Given the description of an element on the screen output the (x, y) to click on. 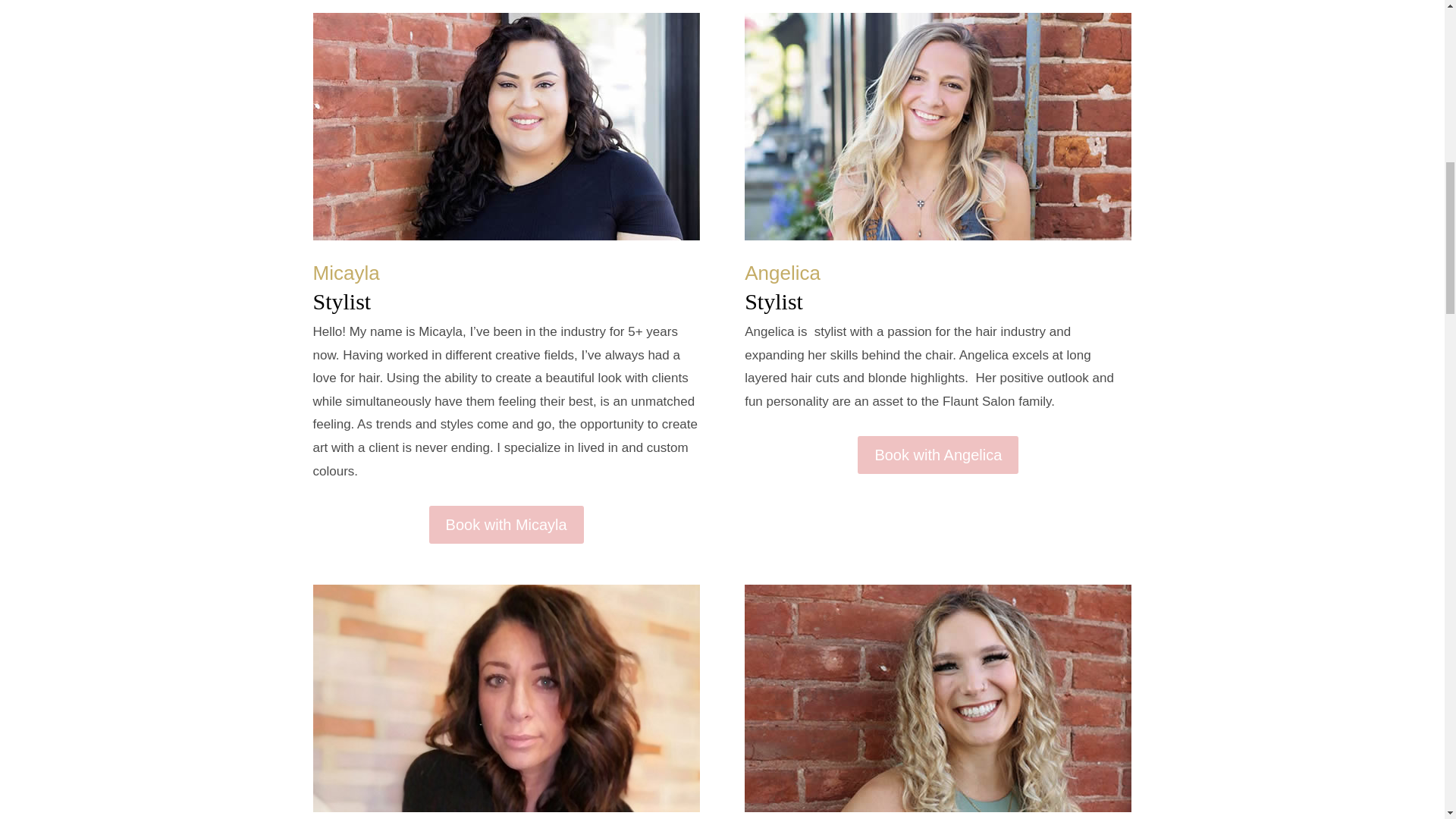
micayla (505, 126)
Book with Angelica (937, 454)
amandaheadshot (937, 698)
julia2 (505, 698)
Book with Micayla (506, 524)
angelica (937, 126)
